Given the description of an element on the screen output the (x, y) to click on. 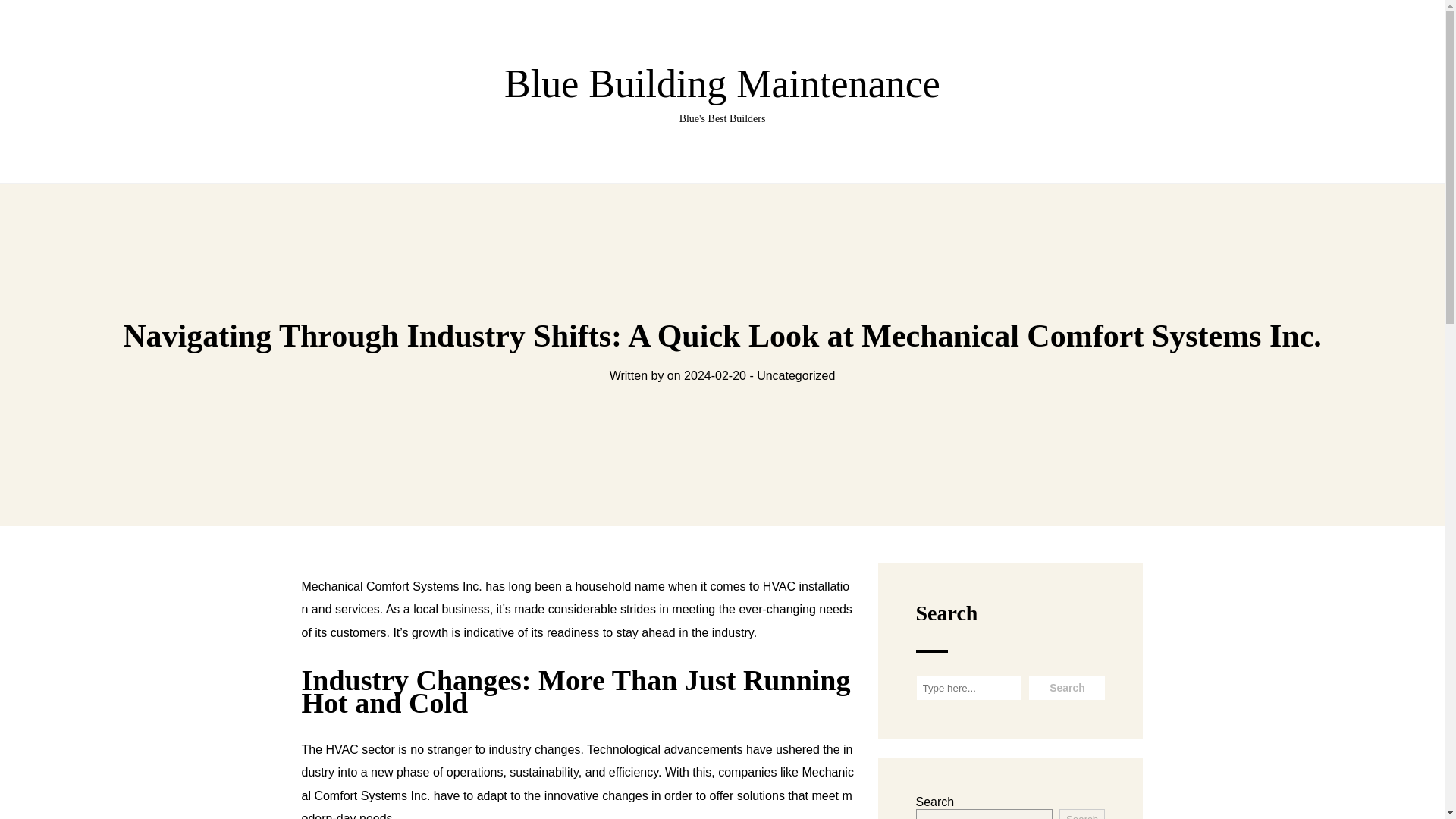
Search (1082, 814)
Uncategorized (795, 375)
Search (1067, 687)
Search (721, 94)
Search (1067, 687)
Blue Building Maintenance (1067, 687)
